Given the description of an element on the screen output the (x, y) to click on. 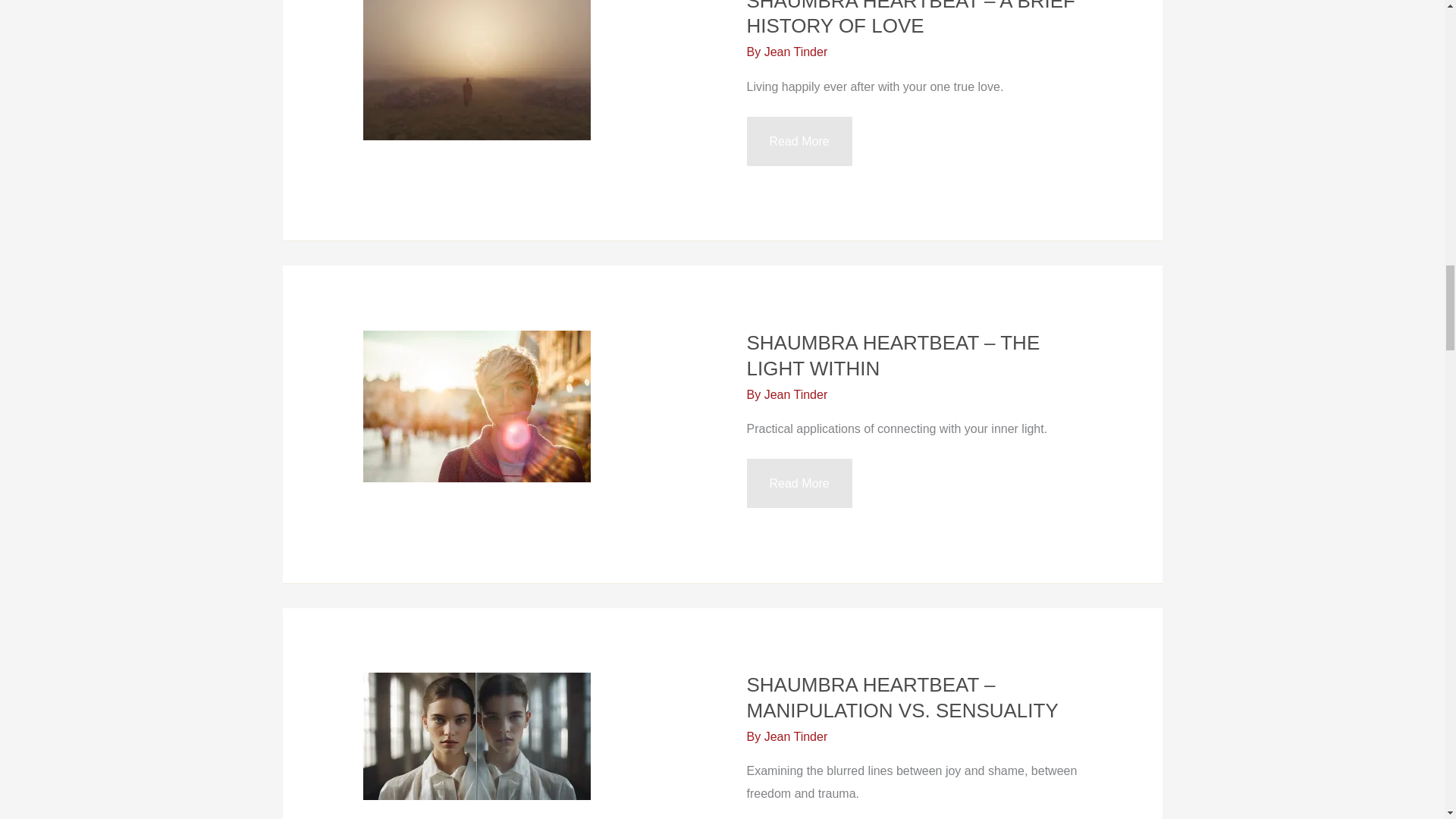
View all posts by Jean Tinder (796, 736)
View all posts by Jean Tinder (796, 394)
View all posts by Jean Tinder (796, 51)
